Given the description of an element on the screen output the (x, y) to click on. 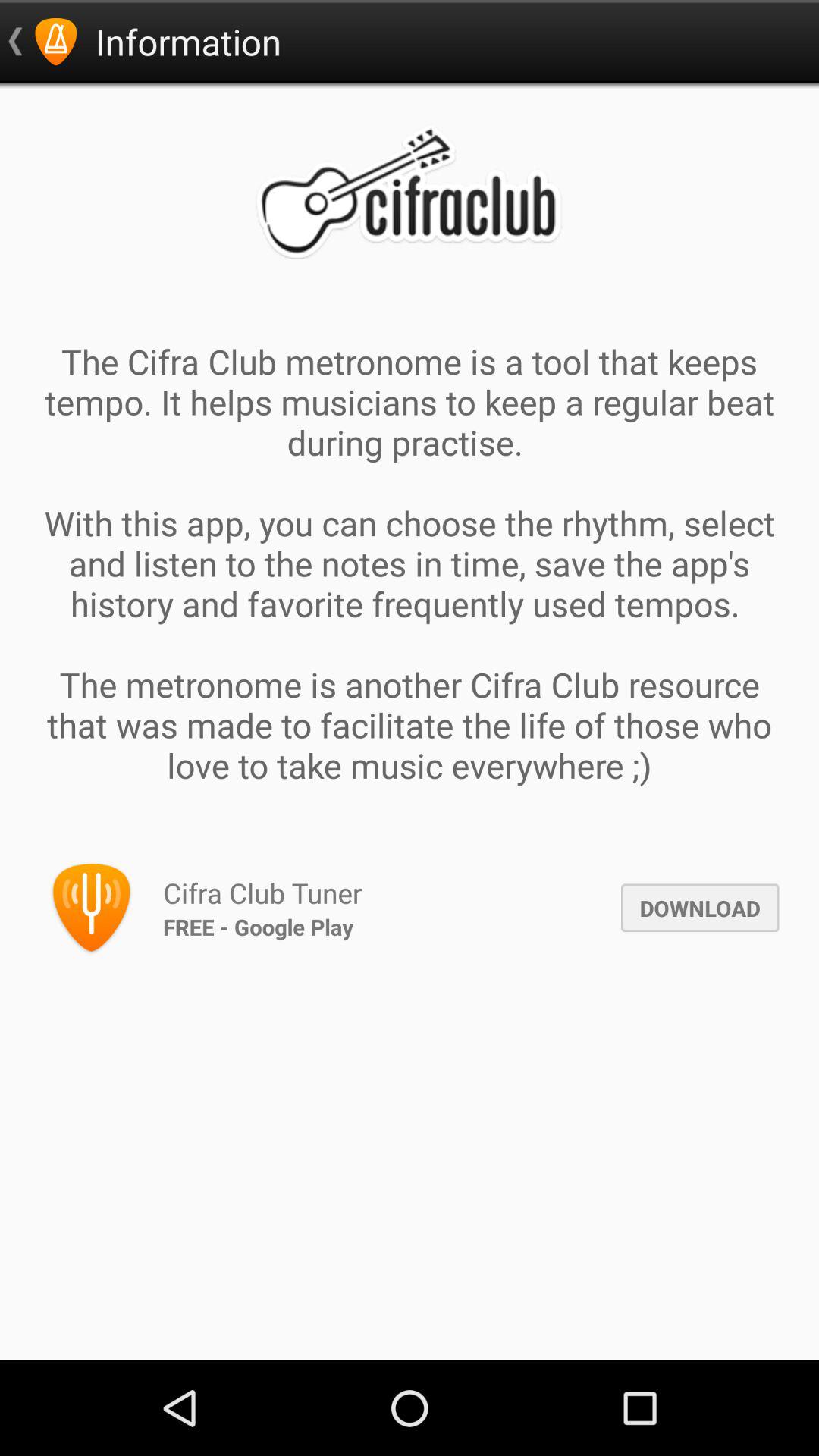
turn off item below the the cifra club (700, 907)
